Given the description of an element on the screen output the (x, y) to click on. 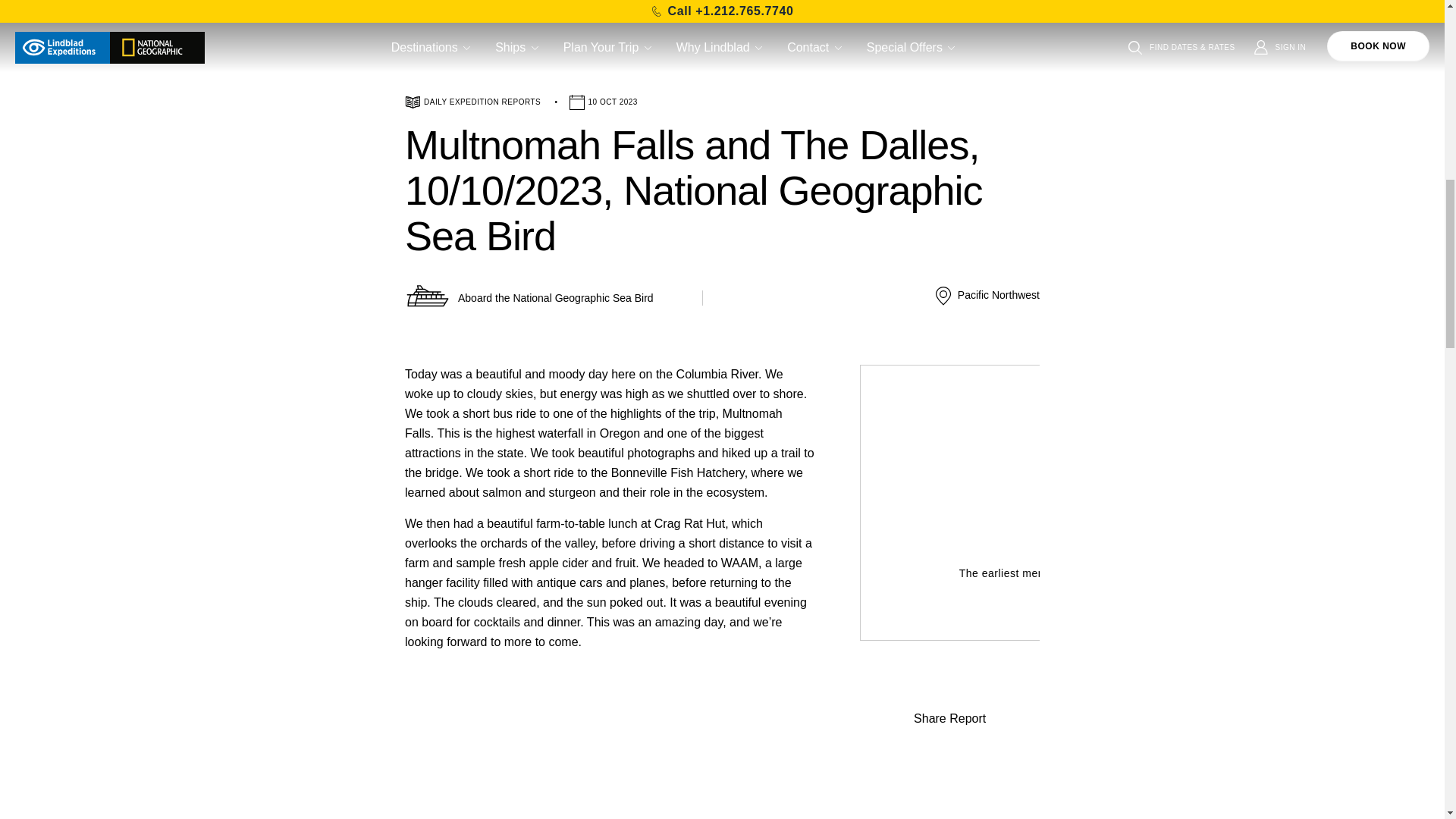
Report (949, 697)
